Given the description of an element on the screen output the (x, y) to click on. 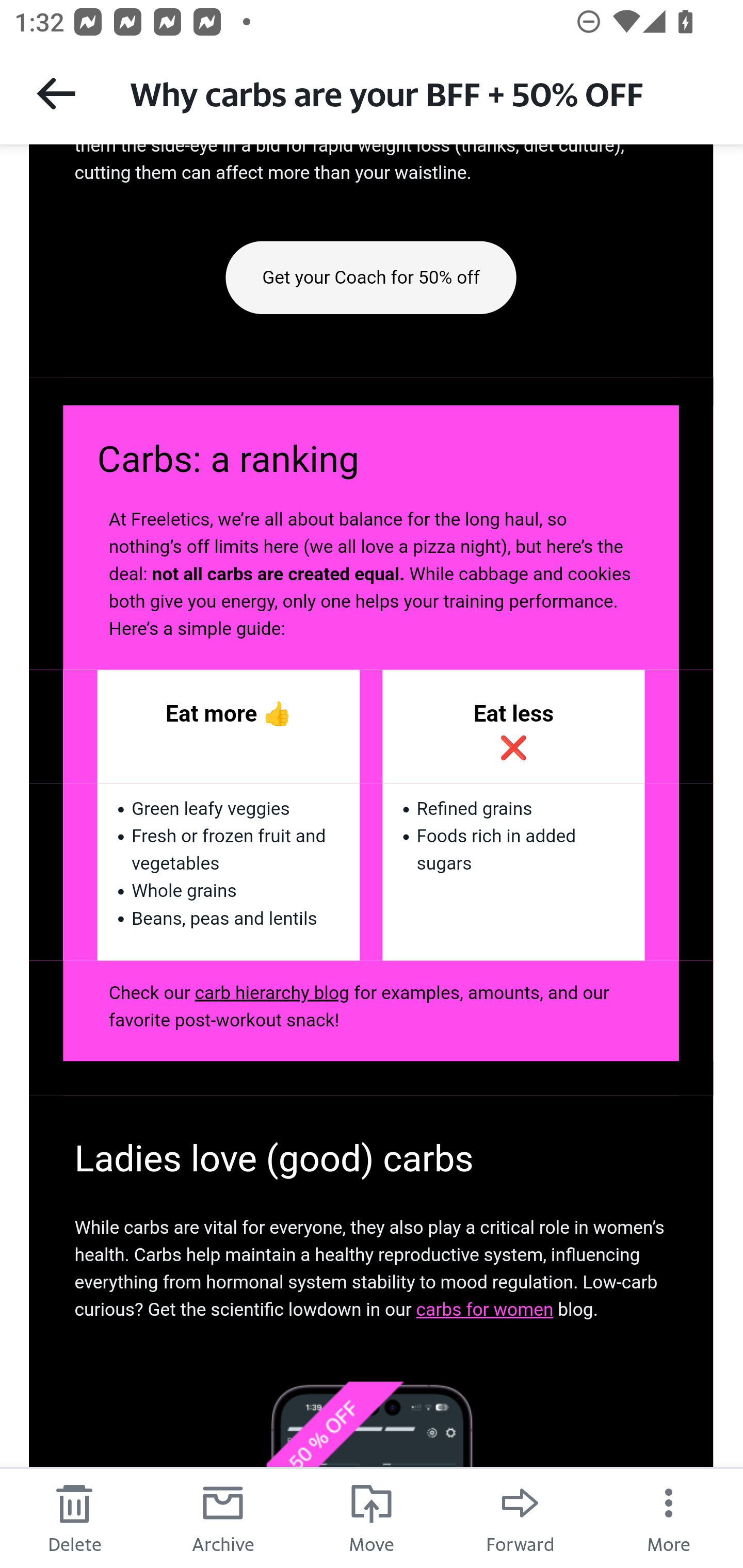
Back (55, 92)
Get your Coach for 50% off (371, 276)
carb hierarchy blog (271, 992)
carbs for women (484, 1309)
Delete (74, 1517)
Archive (222, 1517)
Move (371, 1517)
Forward (519, 1517)
More (668, 1517)
